Given the description of an element on the screen output the (x, y) to click on. 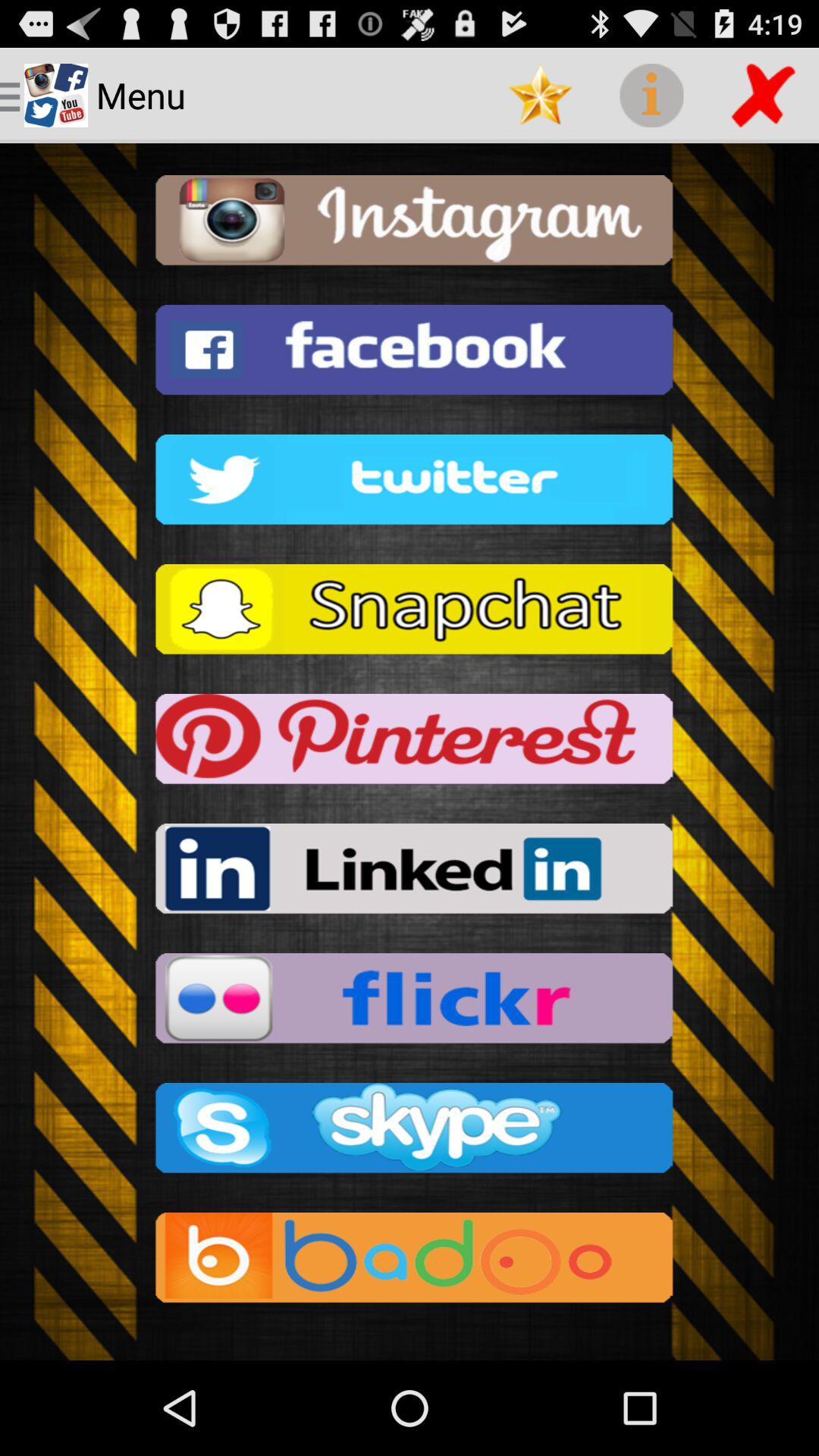
click snapchat option (409, 613)
